Given the description of an element on the screen output the (x, y) to click on. 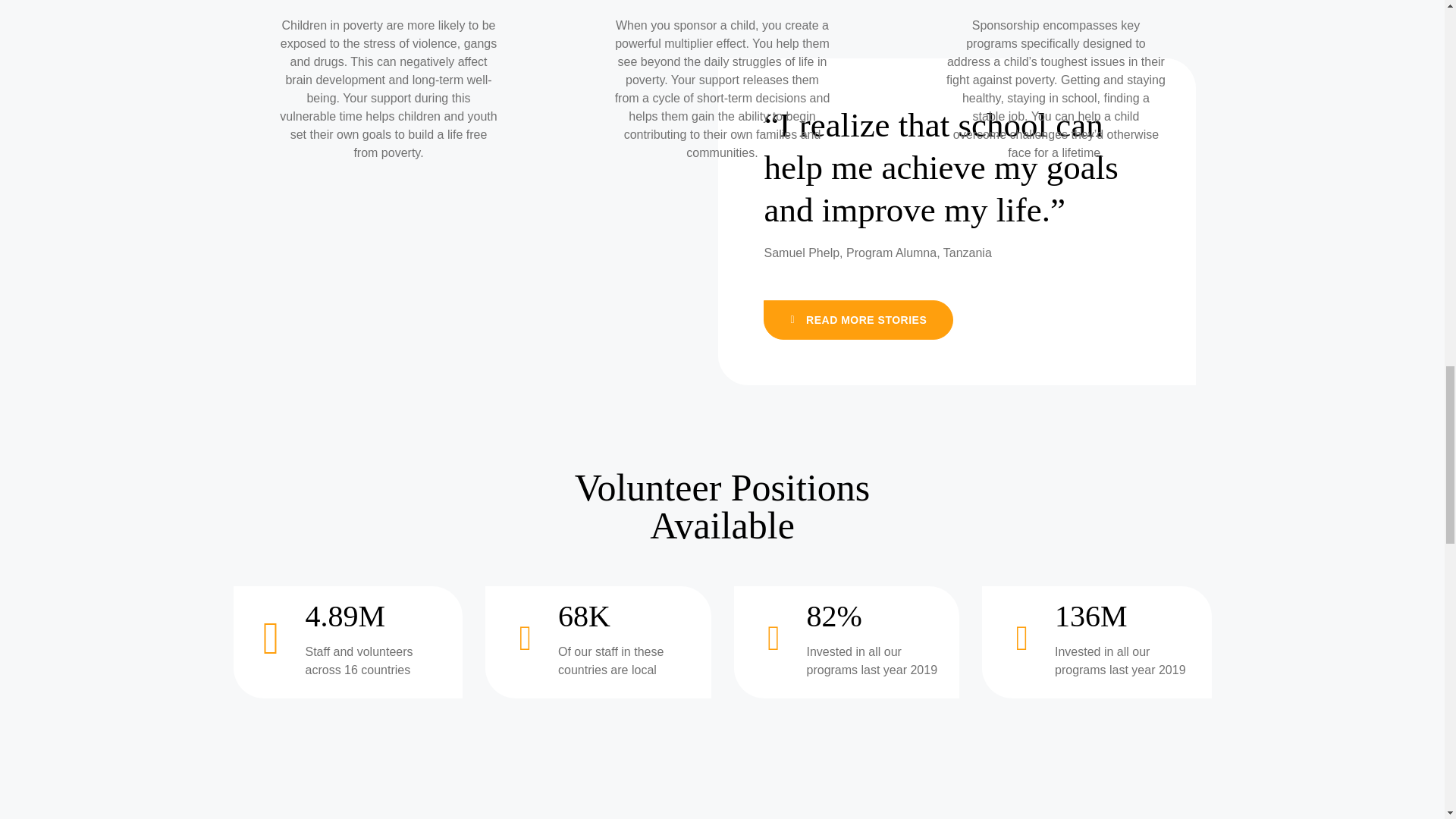
READ MORE STORIES (857, 319)
